Given the description of an element on the screen output the (x, y) to click on. 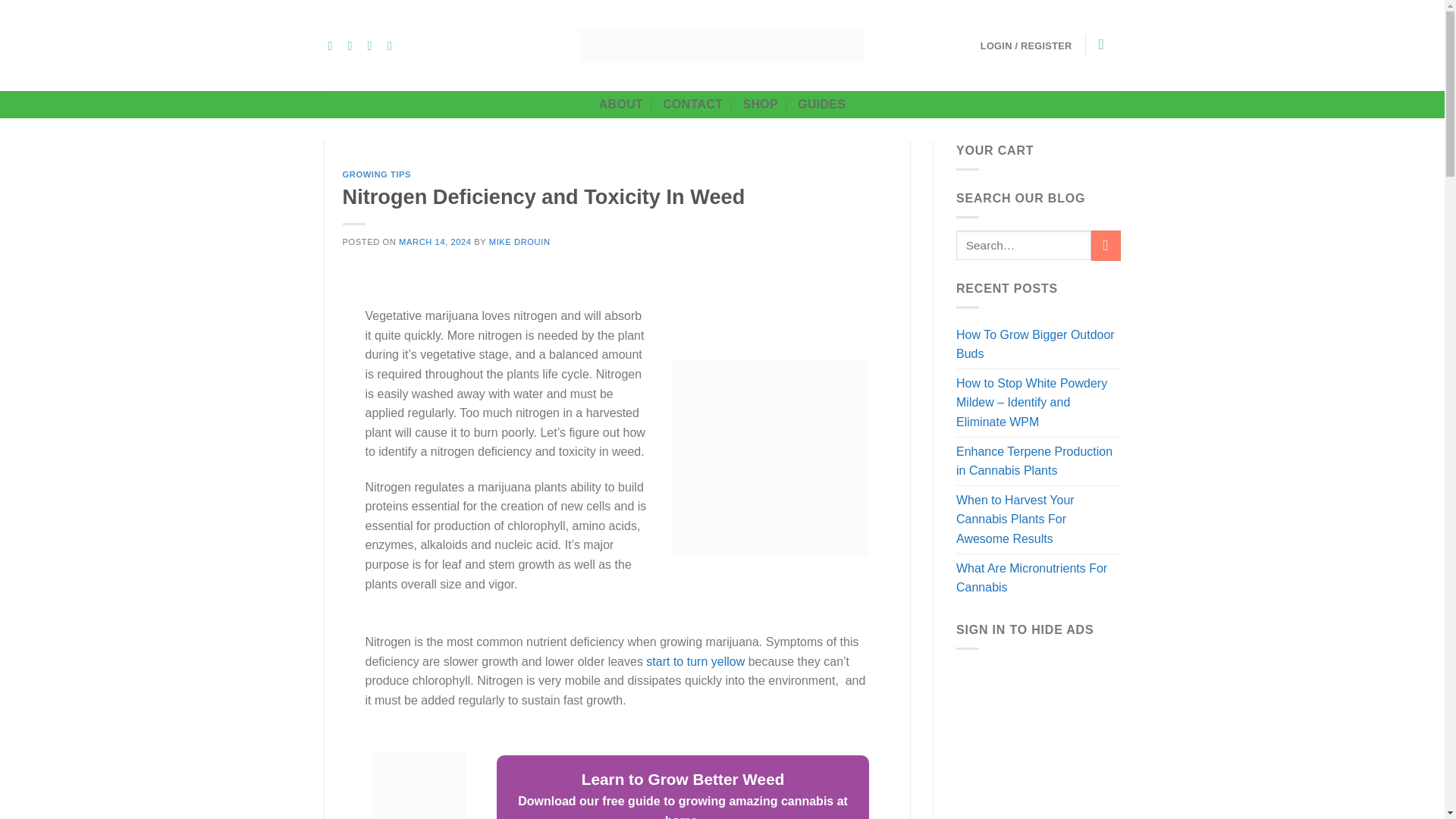
ABOUT (620, 103)
CONTACT (692, 103)
Follow on Instagram (353, 45)
MIKE DROUIN (519, 241)
start to turn yellow (695, 661)
GROWING TIPS (377, 174)
Cart (1104, 44)
SHOP (759, 103)
MARCH 14, 2024 (434, 241)
Follow on X (374, 45)
